Given the description of an element on the screen output the (x, y) to click on. 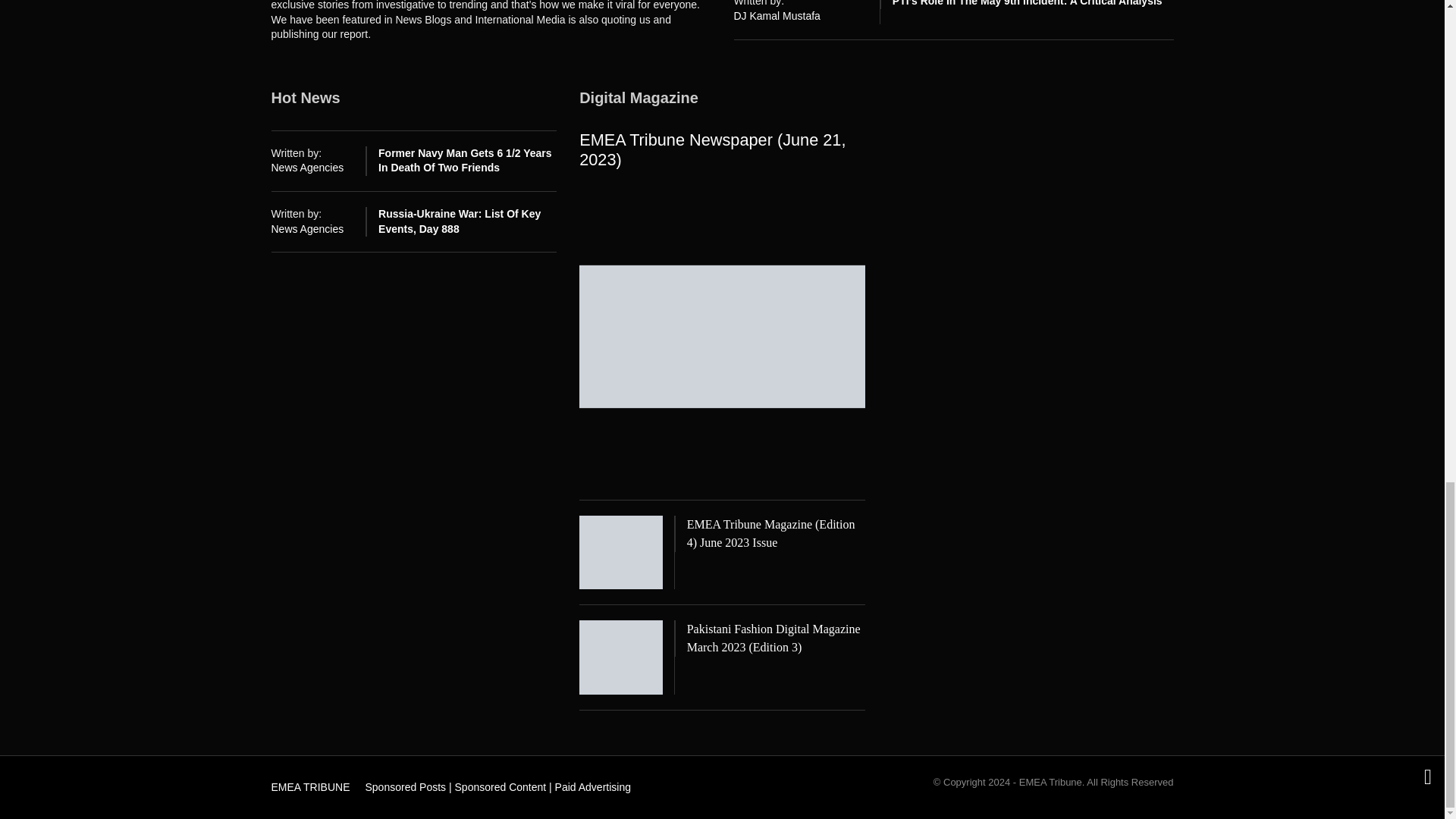
Russia-Ukraine war: List of key events, day 888 (459, 221)
Skip to content (303, 782)
